Given the description of an element on the screen output the (x, y) to click on. 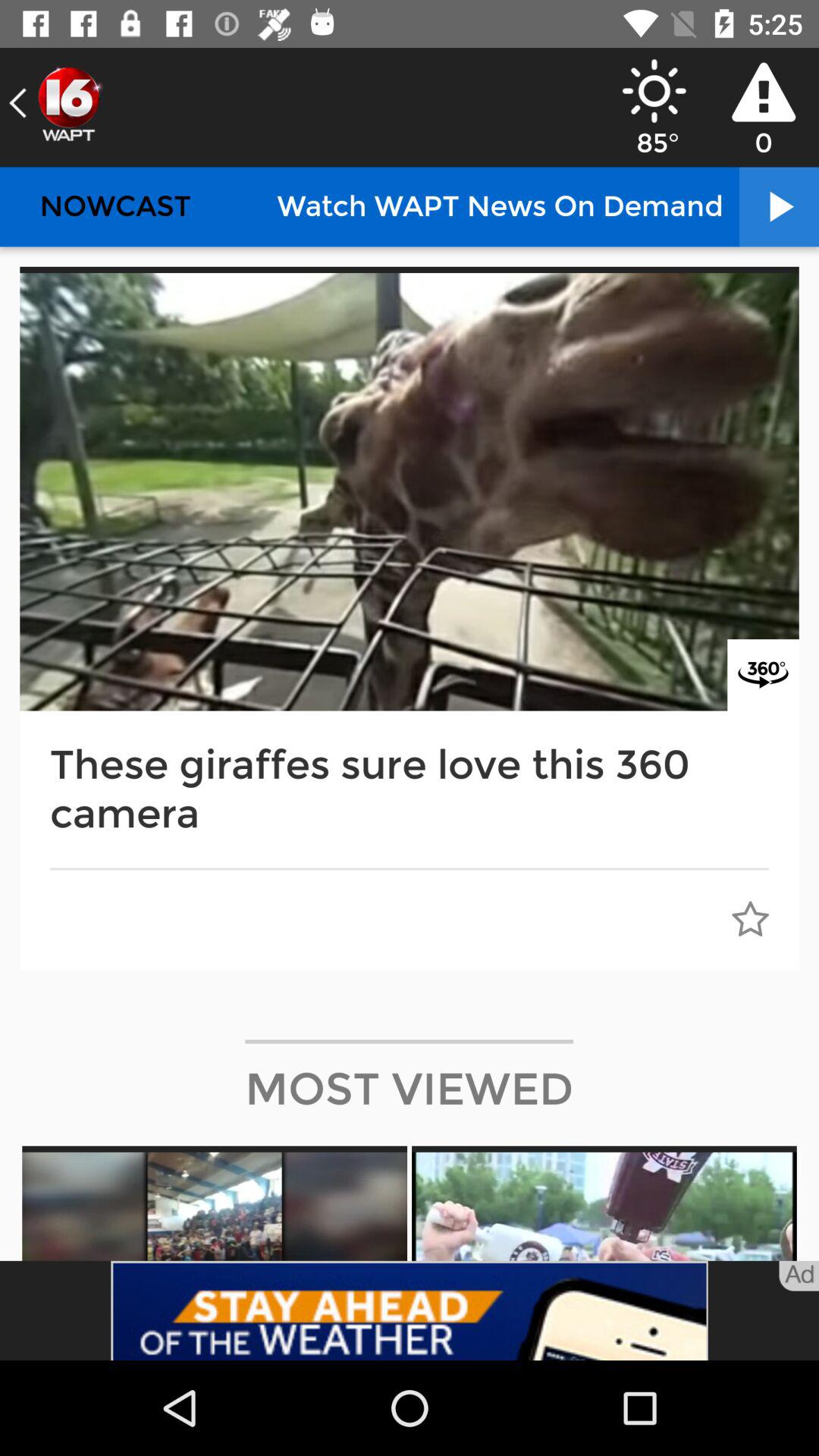
open advertisement (409, 1310)
